Given the description of an element on the screen output the (x, y) to click on. 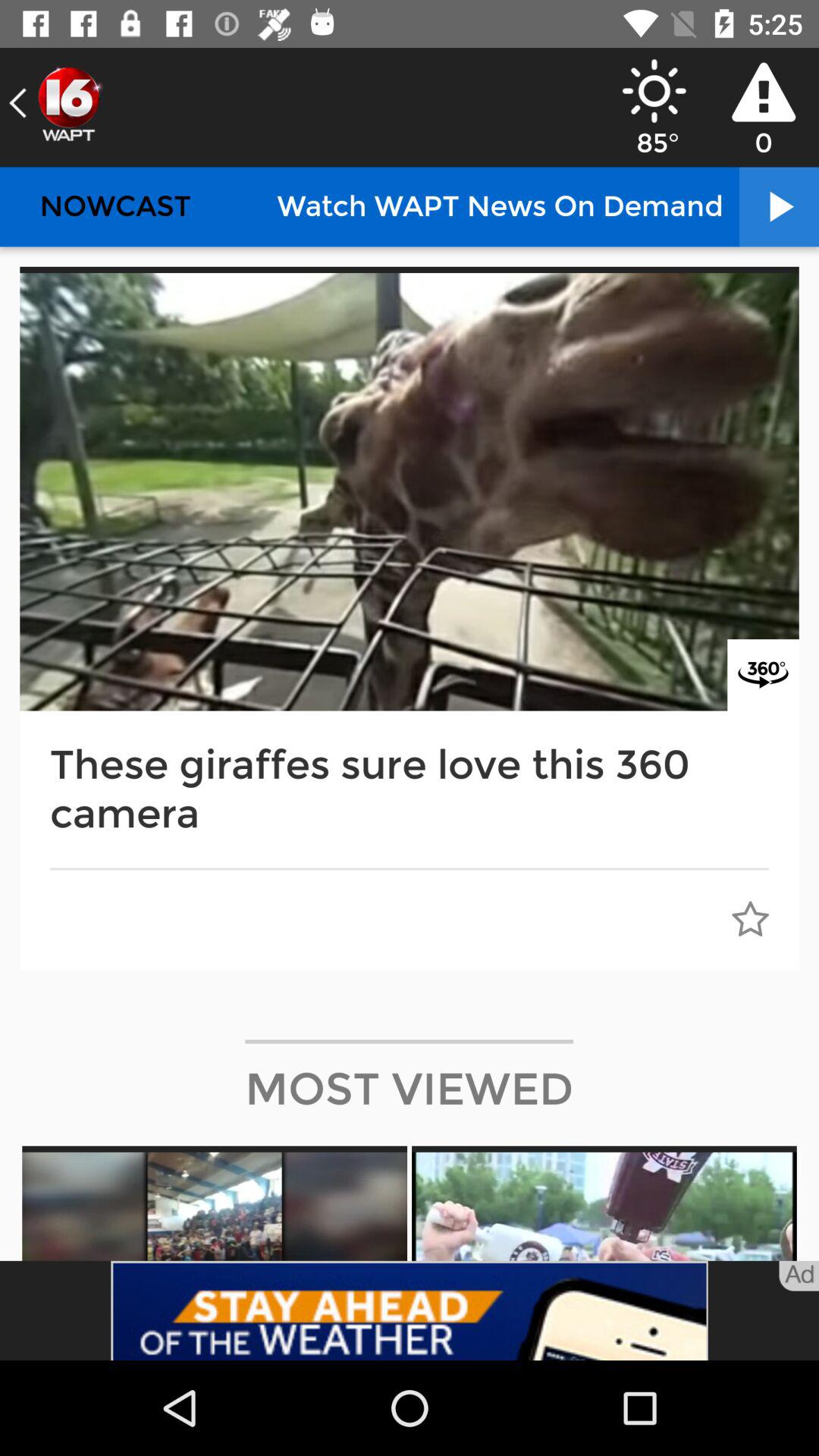
open advertisement (409, 1310)
